Given the description of an element on the screen output the (x, y) to click on. 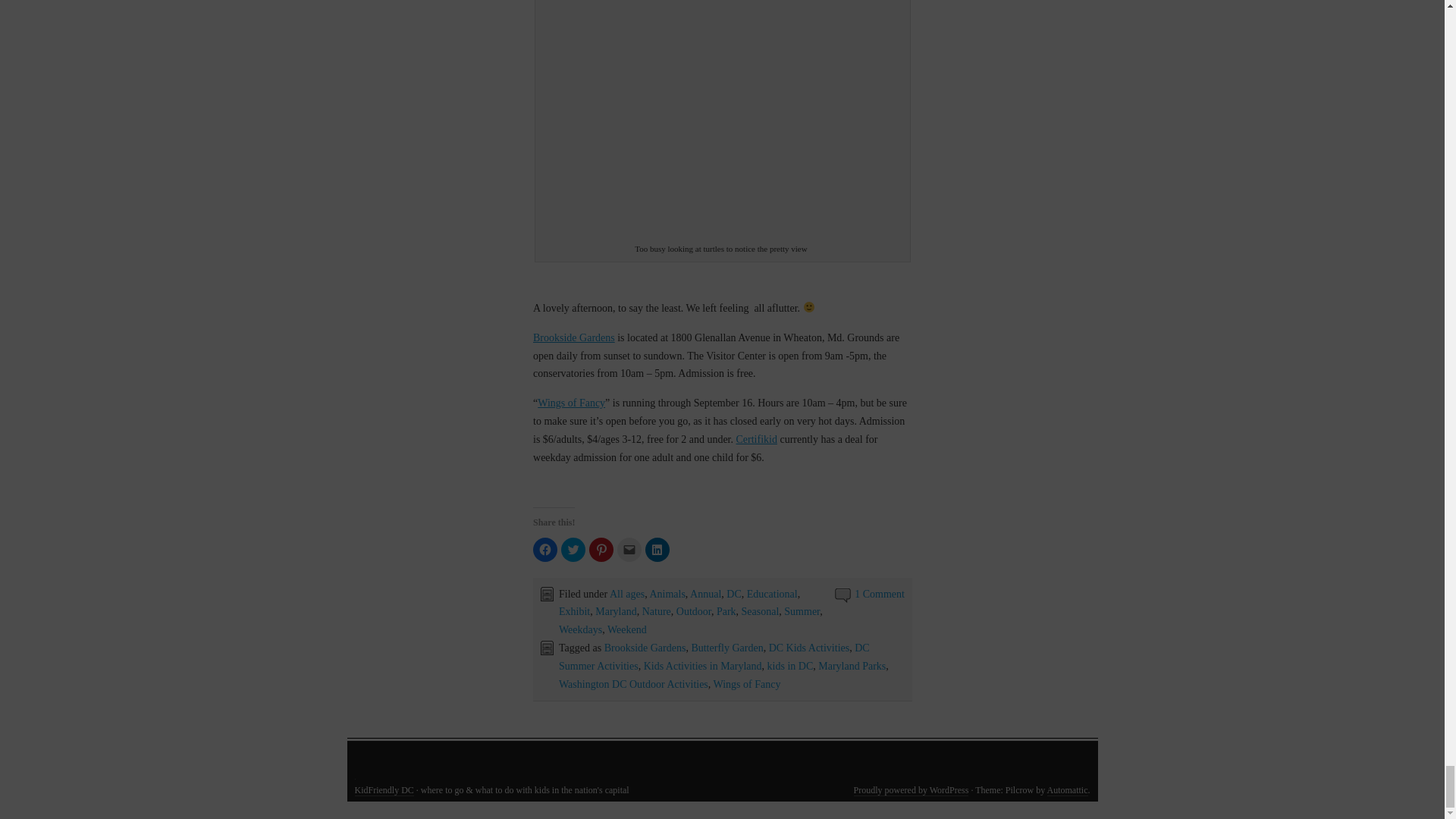
Click to share on Facebook (544, 549)
